Given the description of an element on the screen output the (x, y) to click on. 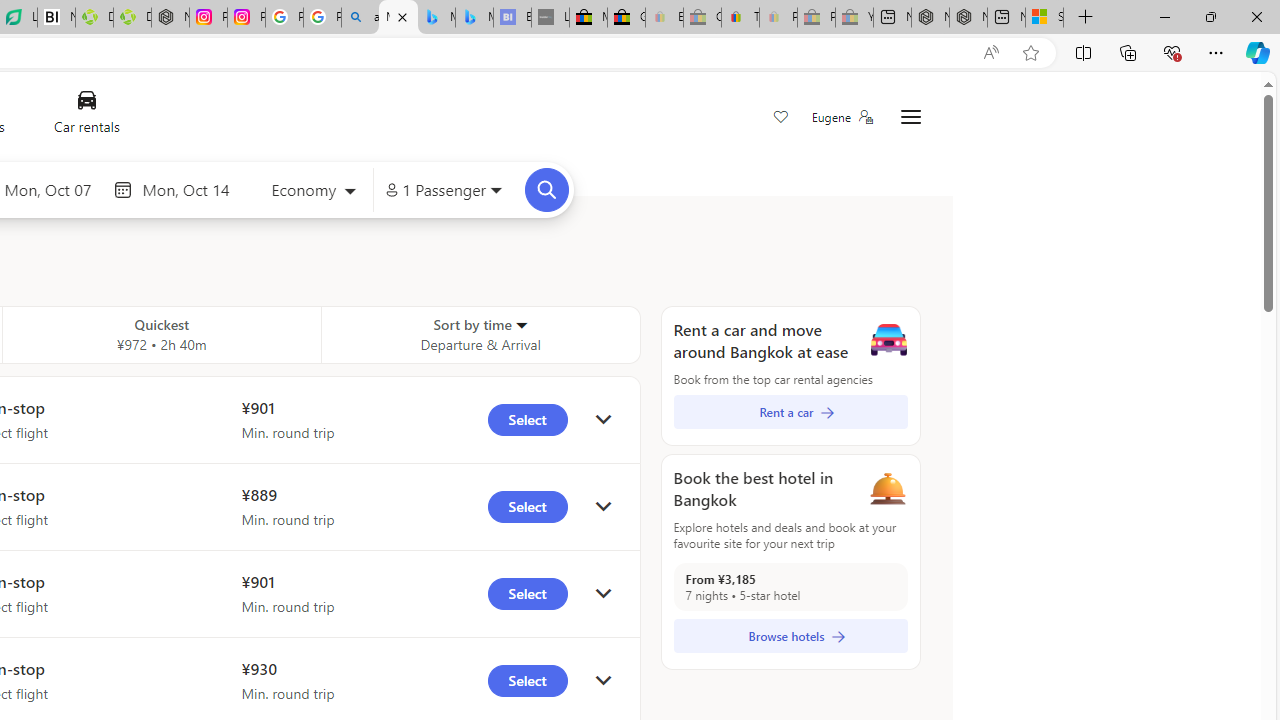
Select class of service (313, 192)
End date (191, 189)
Press Room - eBay Inc. - Sleeping (815, 17)
Microsoft Bing Travel - Shangri-La Hotel Bangkok (473, 17)
Payments Terms of Use | eBay.com - Sleeping (778, 17)
